Given the description of an element on the screen output the (x, y) to click on. 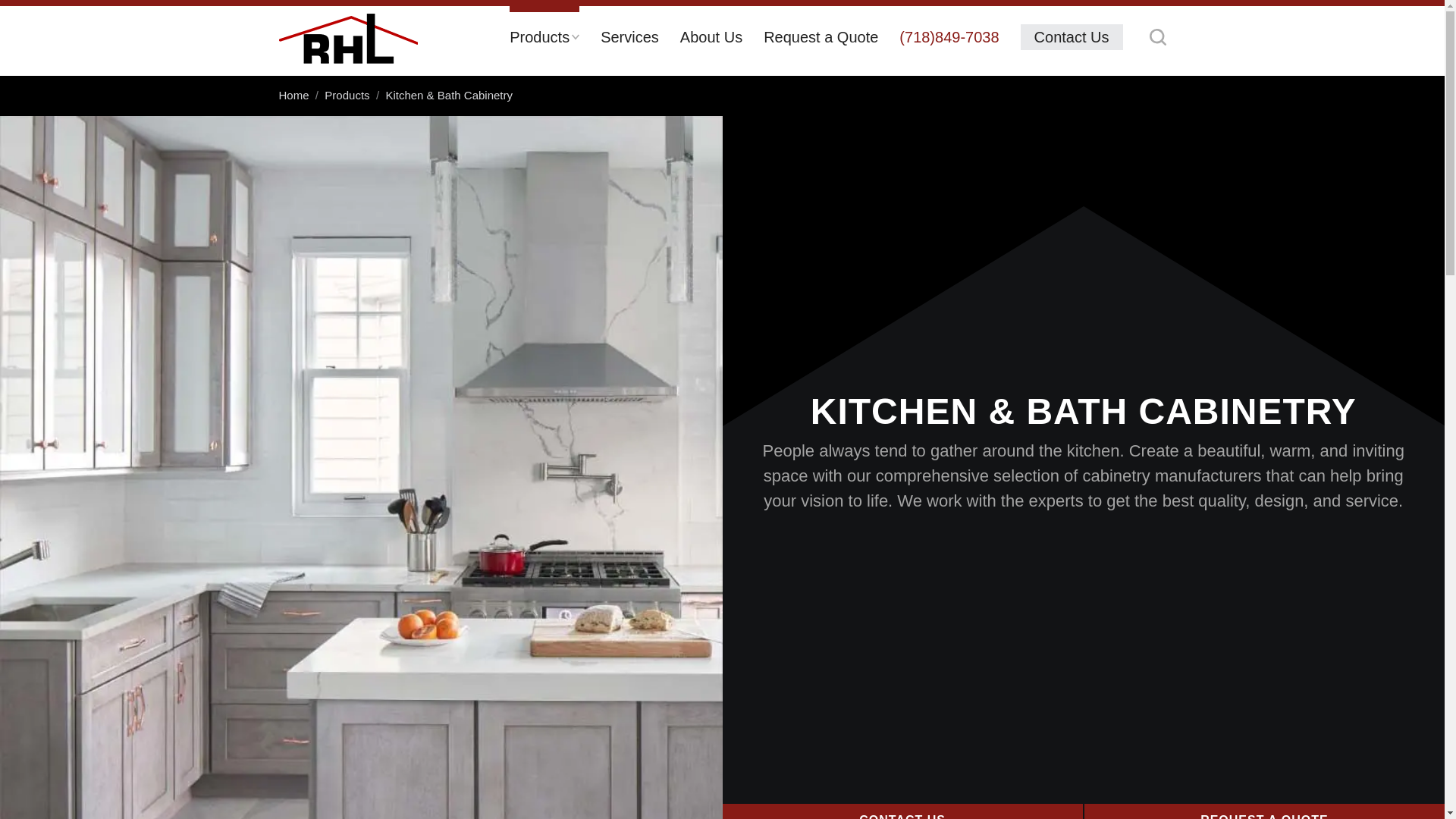
About Us (710, 40)
Products (544, 40)
Go to Products. (346, 94)
Services (629, 40)
